Given the description of an element on the screen output the (x, y) to click on. 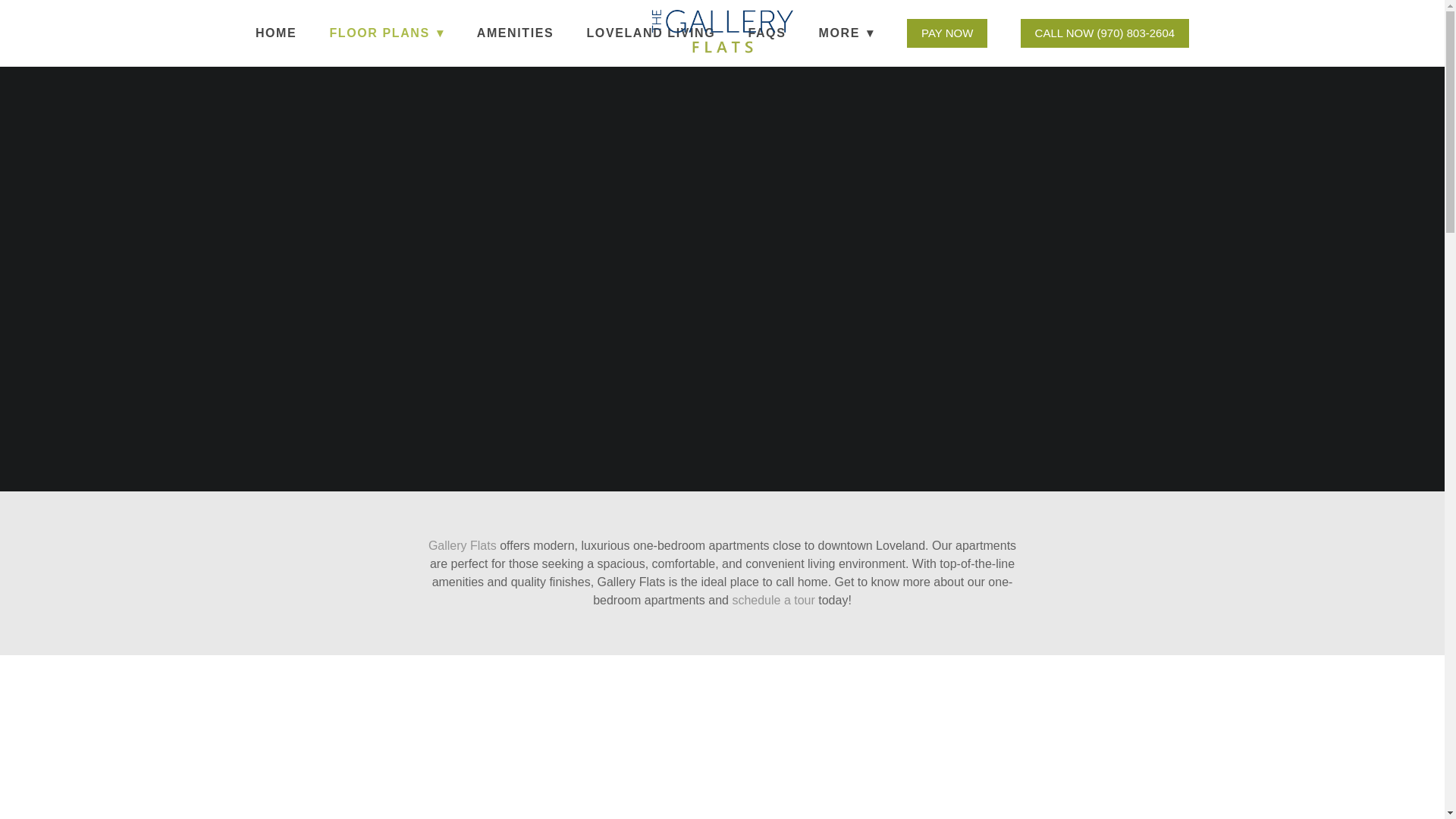
schedule a tour (772, 599)
PAY NOW (947, 32)
AMENITIES (515, 33)
HOME (276, 33)
The Gallery Flats (721, 31)
Gallery Flats (462, 545)
LOVELAND LIVING (650, 33)
FAQS (767, 33)
